Given the description of an element on the screen output the (x, y) to click on. 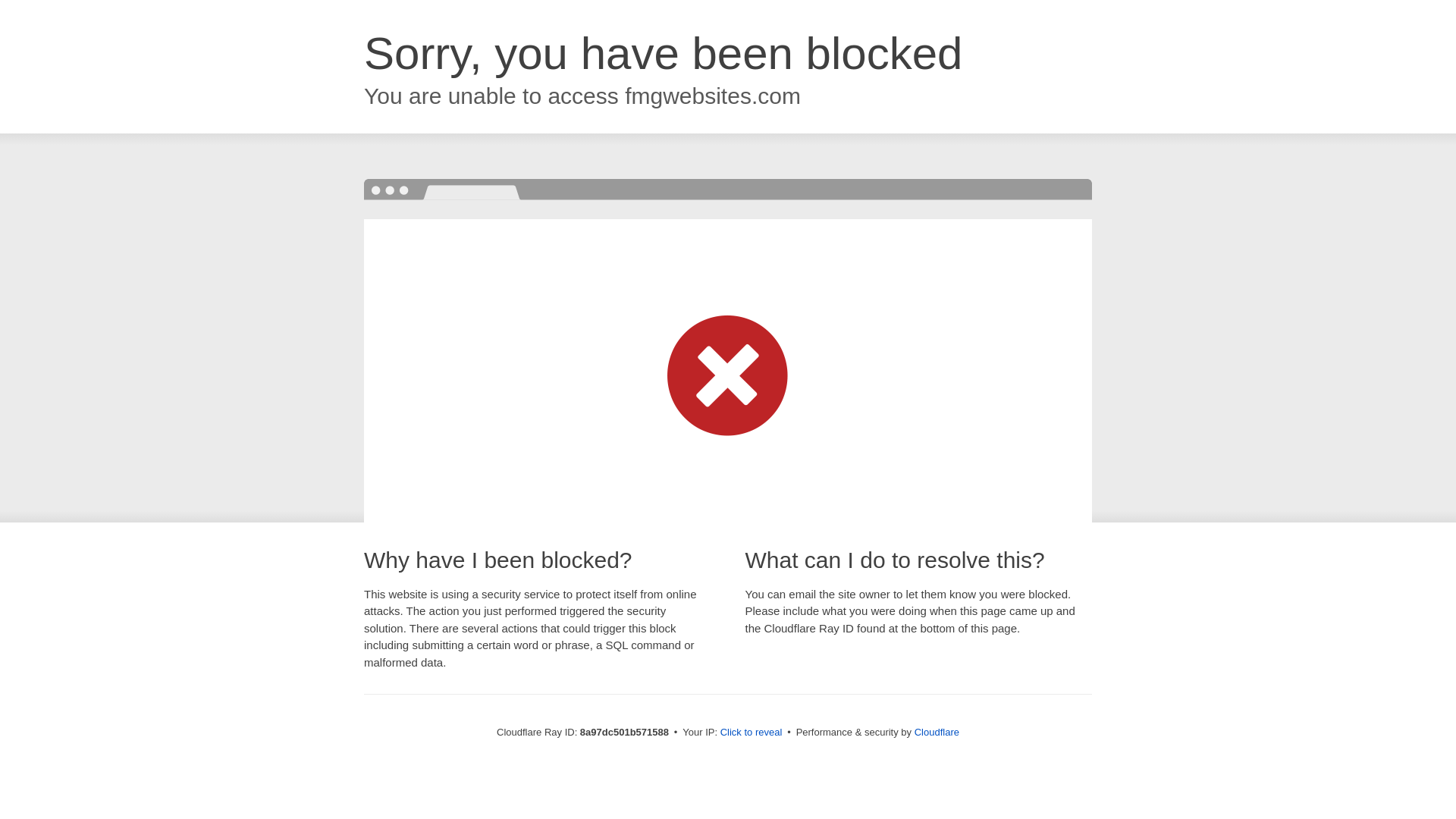
Click to reveal (751, 732)
Cloudflare (936, 731)
